Given the description of an element on the screen output the (x, y) to click on. 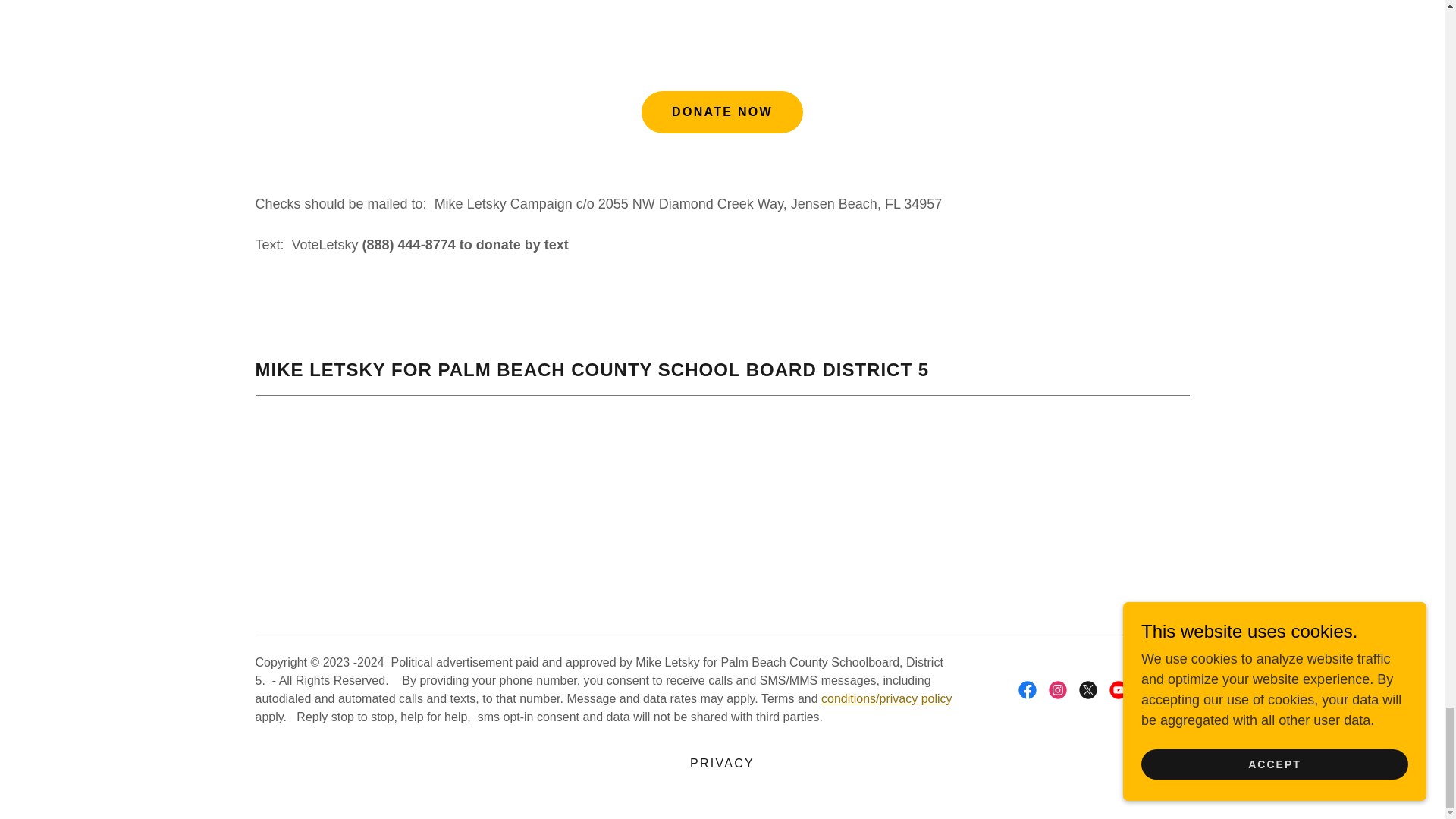
DONATE NOW (722, 111)
PRIVACY (722, 763)
